Given the description of an element on the screen output the (x, y) to click on. 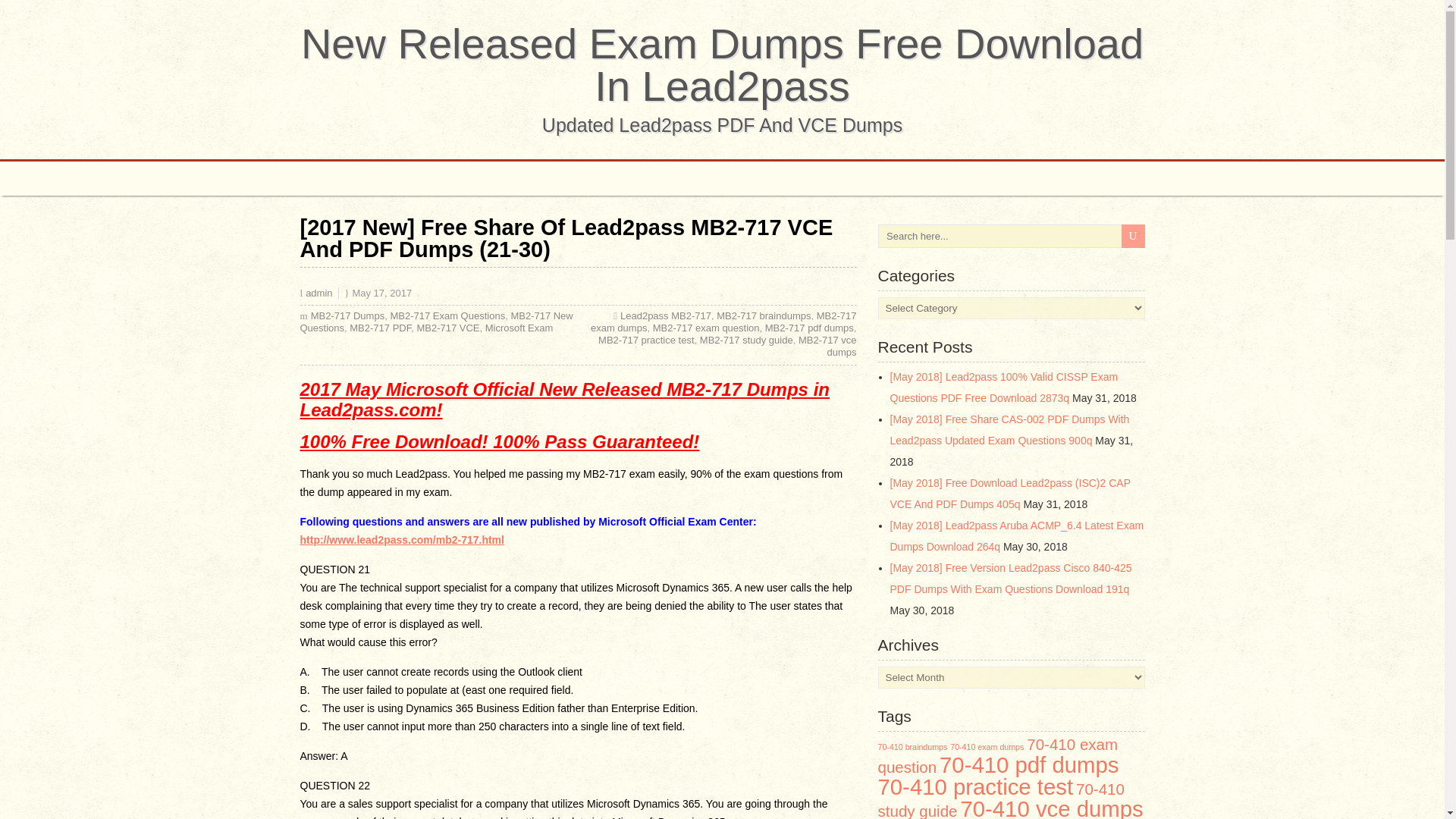
U (1132, 236)
MB2-717 New Questions (436, 321)
MB2-717 exam question (706, 327)
MB2-717 exam dumps (724, 321)
U (1132, 236)
70-410 study guide (1000, 799)
70-410 practice test (975, 786)
U (1132, 236)
Lead2pass MB2-717 (665, 315)
Microsoft Exam (518, 327)
MB2-717 practice test (646, 339)
MB2-717 pdf dumps (809, 327)
70-410 exam dumps (986, 746)
70-410 braindumps (912, 746)
New Released Exam Dumps Free Download In Lead2pass (721, 64)
